Given the description of an element on the screen output the (x, y) to click on. 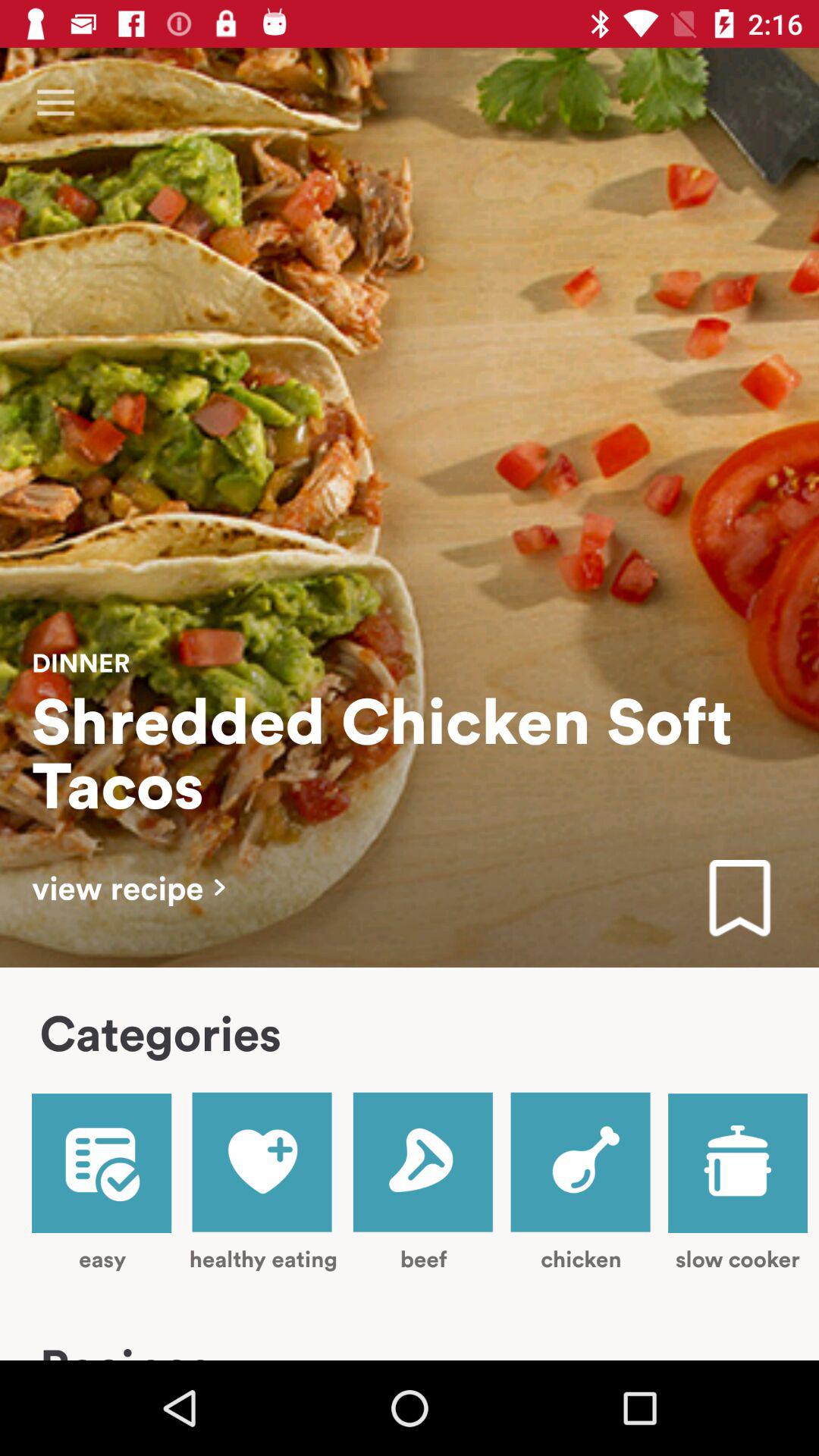
press the icon to the right of healthy eating item (423, 1181)
